Given the description of an element on the screen output the (x, y) to click on. 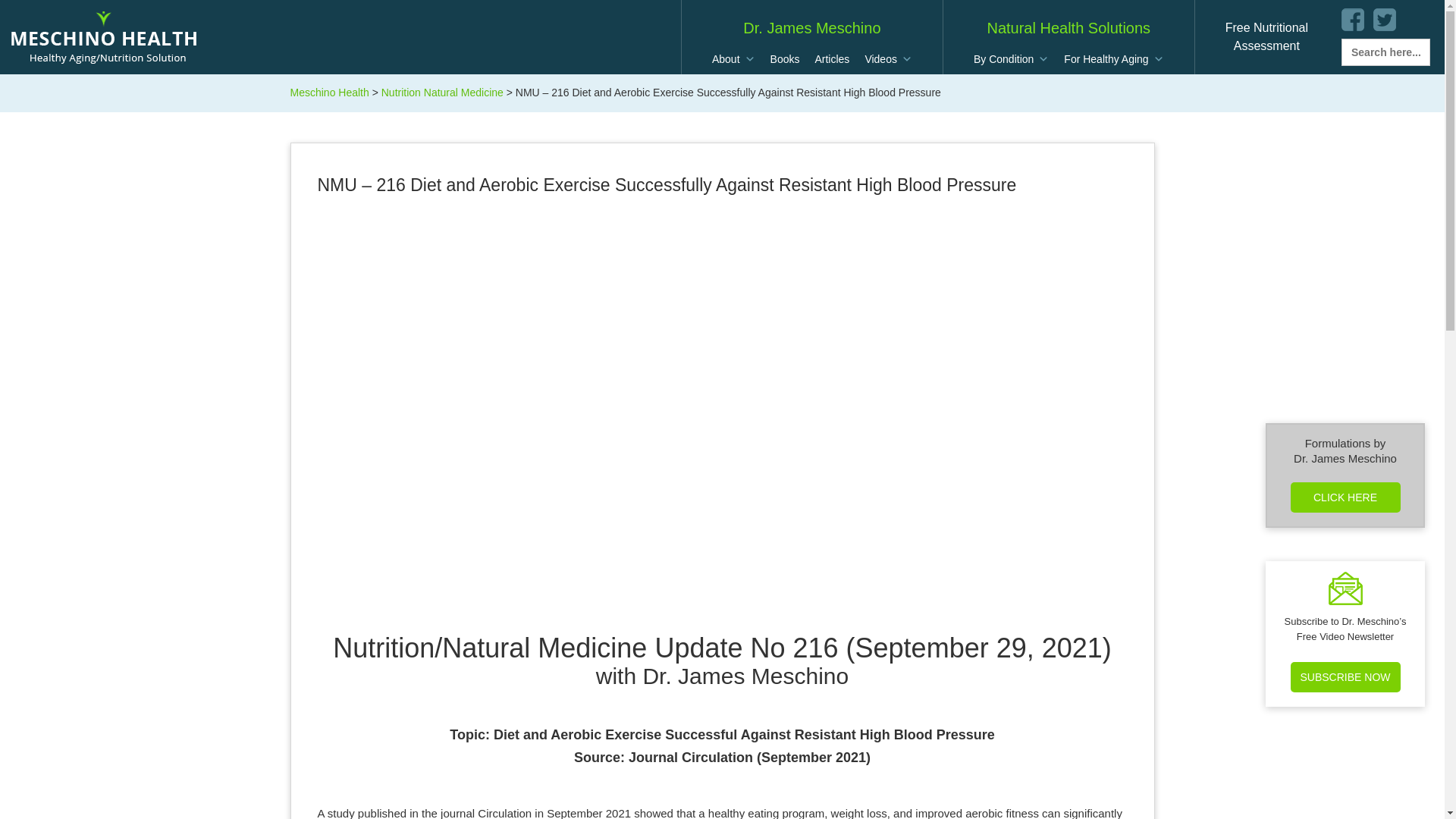
SUBSCRIBE NOW (1345, 676)
Books (785, 59)
Videos (888, 59)
facebook (1352, 19)
Nutrition Natural Medicine (442, 92)
About (733, 59)
twitter (1384, 19)
Go to Meschino Health. (328, 92)
Articles (831, 59)
For Healthy Aging (1113, 59)
CLICK HERE (1345, 497)
Meschino Health (1266, 36)
By Condition (328, 92)
Go to Nutrition Natural Medicine. (1011, 59)
